Given the description of an element on the screen output the (x, y) to click on. 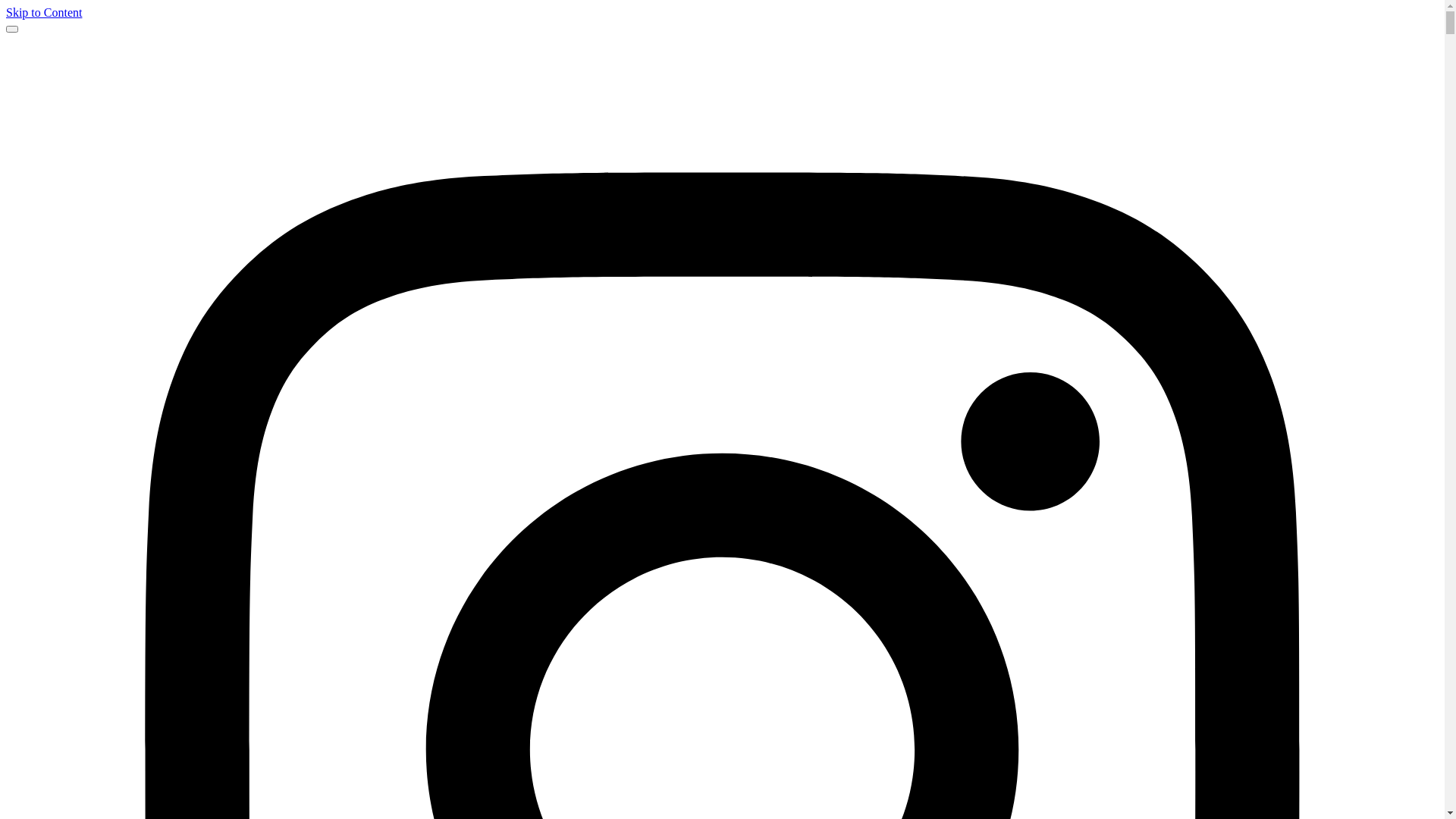
Skip to Content Element type: text (43, 12)
